Given the description of an element on the screen output the (x, y) to click on. 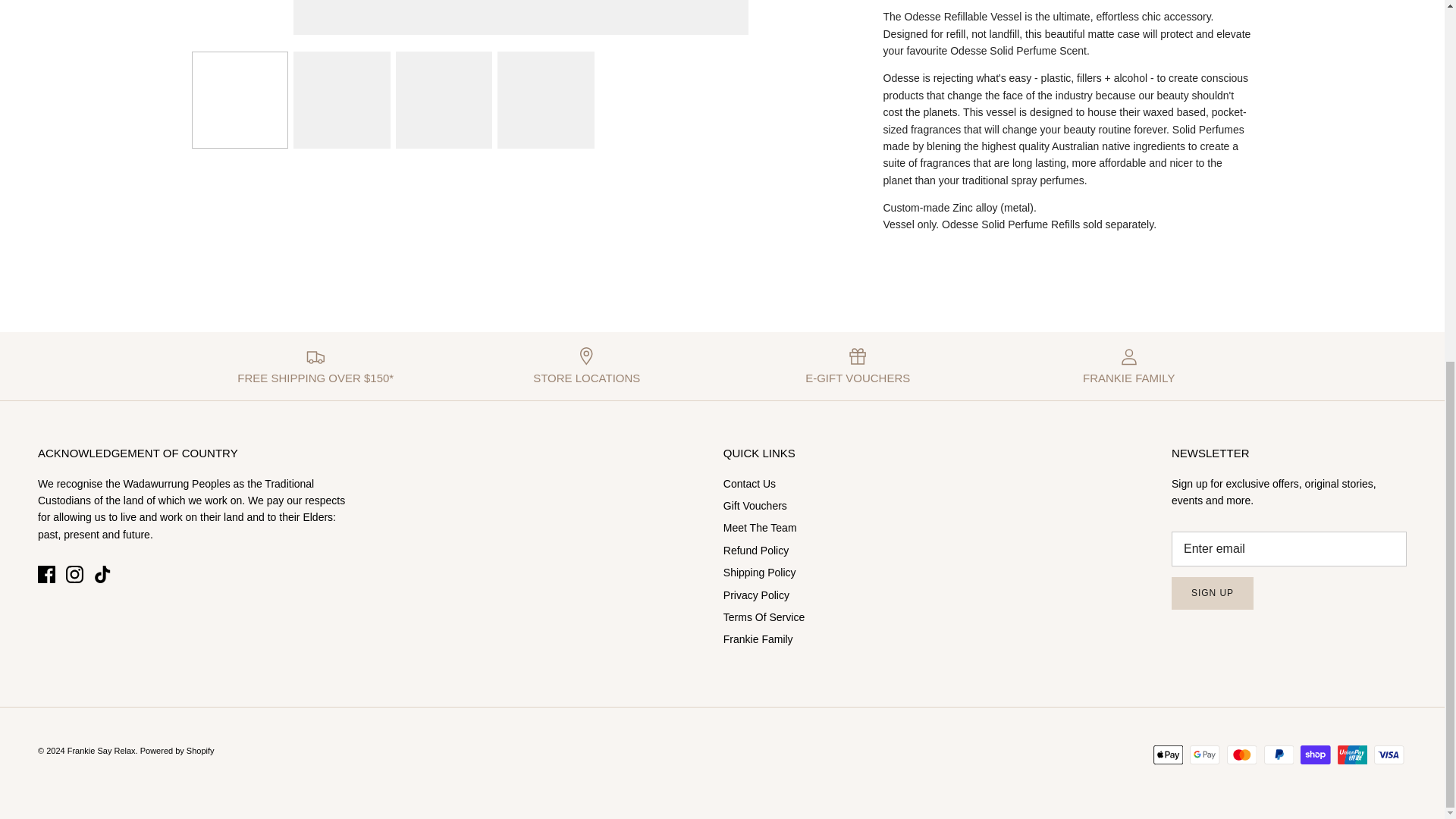
Instagram (73, 574)
Facebook (46, 574)
Apple Pay (1168, 754)
Google Pay (1204, 754)
